Given the description of an element on the screen output the (x, y) to click on. 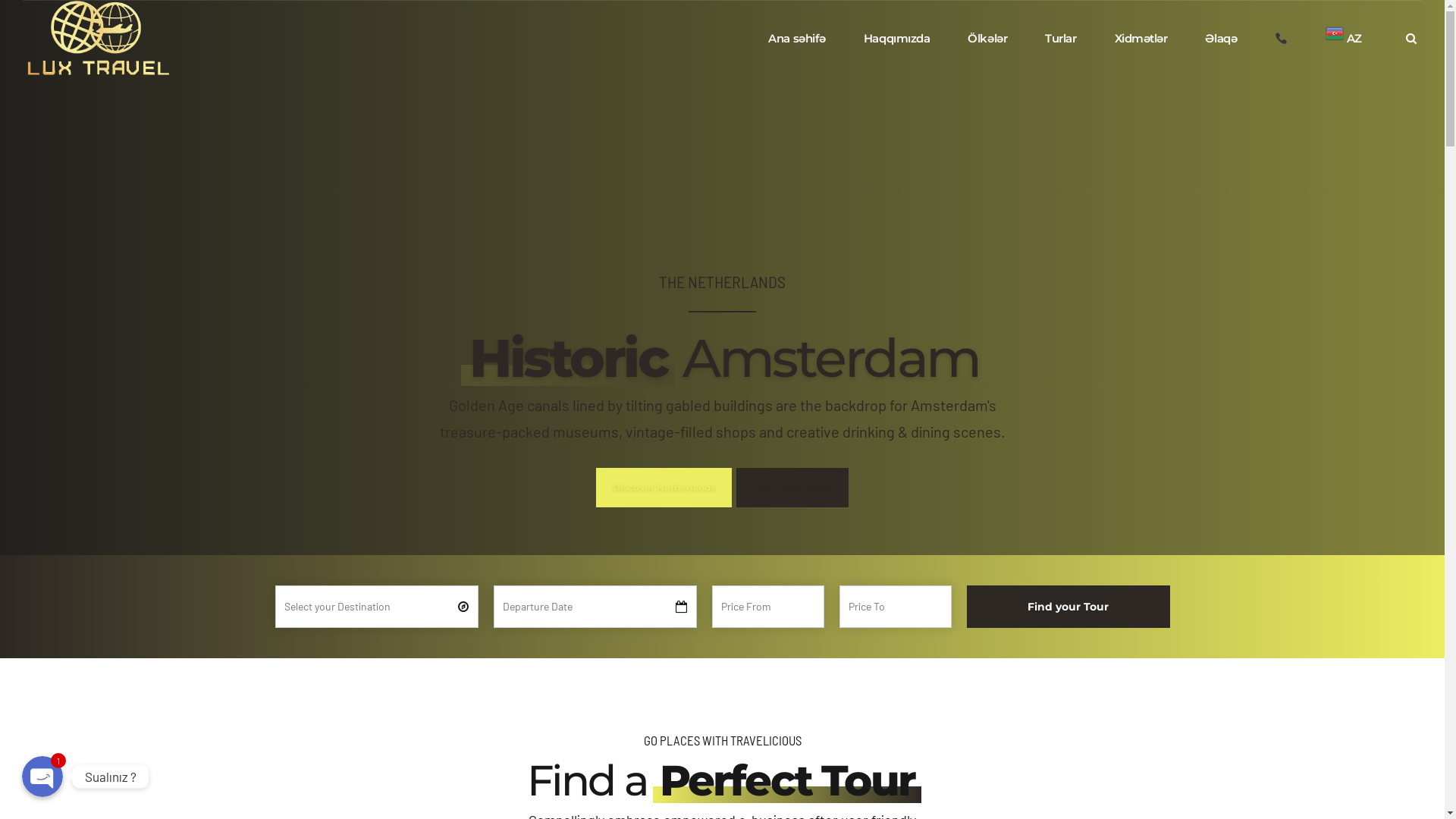
Find your Tour Element type: text (1067, 606)
View other Tours Element type: text (791, 486)
Turlar Element type: text (1060, 38)
AZ Element type: text (1343, 38)
Discover Netherlands Element type: text (663, 486)
